Given the description of an element on the screen output the (x, y) to click on. 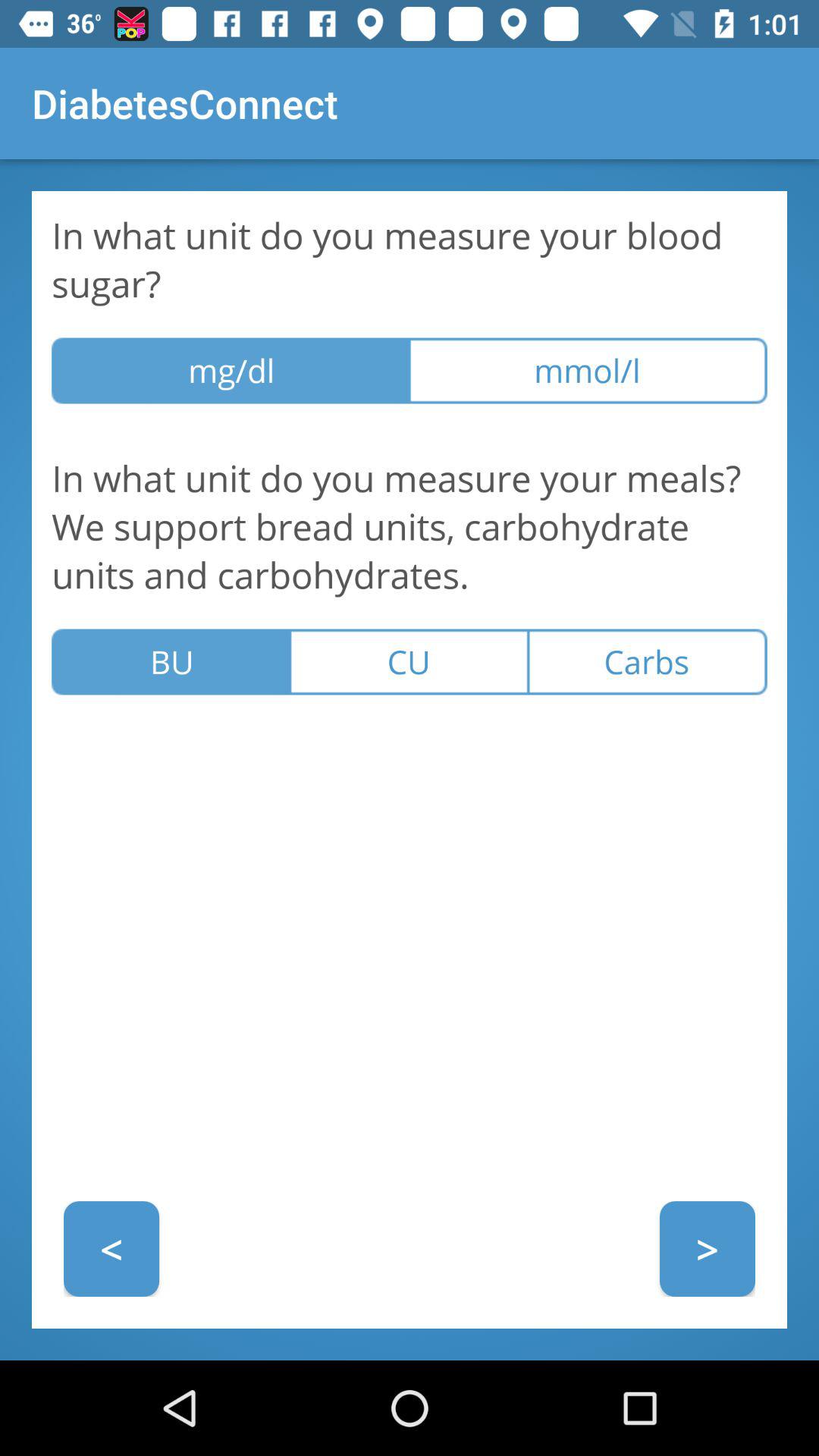
click the item to the right of the cu icon (647, 662)
